Given the description of an element on the screen output the (x, y) to click on. 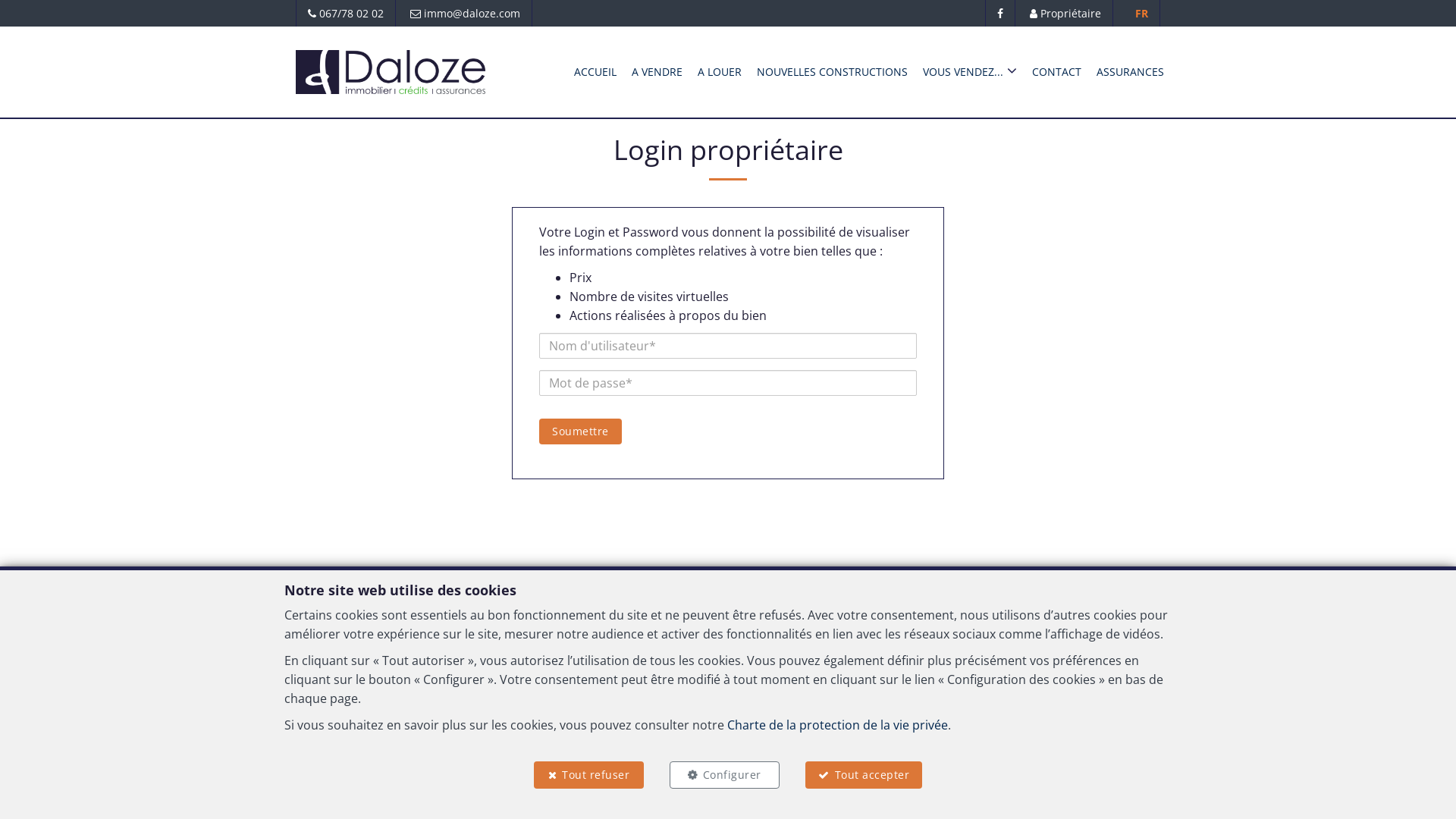
immo@daloze.com Element type: text (779, 664)
ACCUEIL Element type: text (595, 71)
DESIGNED AND DEVELOPED BY WEBULOUS Element type: text (792, 803)
Tout refuser Element type: text (588, 774)
www.ipi.be Element type: text (1219, 725)
NOUVELLES CONSTRUCTIONS Element type: text (831, 71)
A LOUER Element type: text (719, 71)
Tout accepter Element type: text (863, 774)
CONTACT Element type: text (1056, 71)
067/78 02 02 Element type: text (684, 664)
VOUS VENDEZ... Element type: text (969, 71)
Configuration des cookies Element type: text (908, 771)
FR Element type: text (1141, 13)
A VENDRE Element type: text (656, 71)
Soumettre Element type: text (580, 431)
067/78 02 02 Element type: text (345, 13)
POWERED BY WHISE Element type: text (597, 803)
Configurer Element type: text (724, 774)
immo@daloze.com Element type: text (465, 13)
ASSURANCES Element type: text (1130, 71)
